Given the description of an element on the screen output the (x, y) to click on. 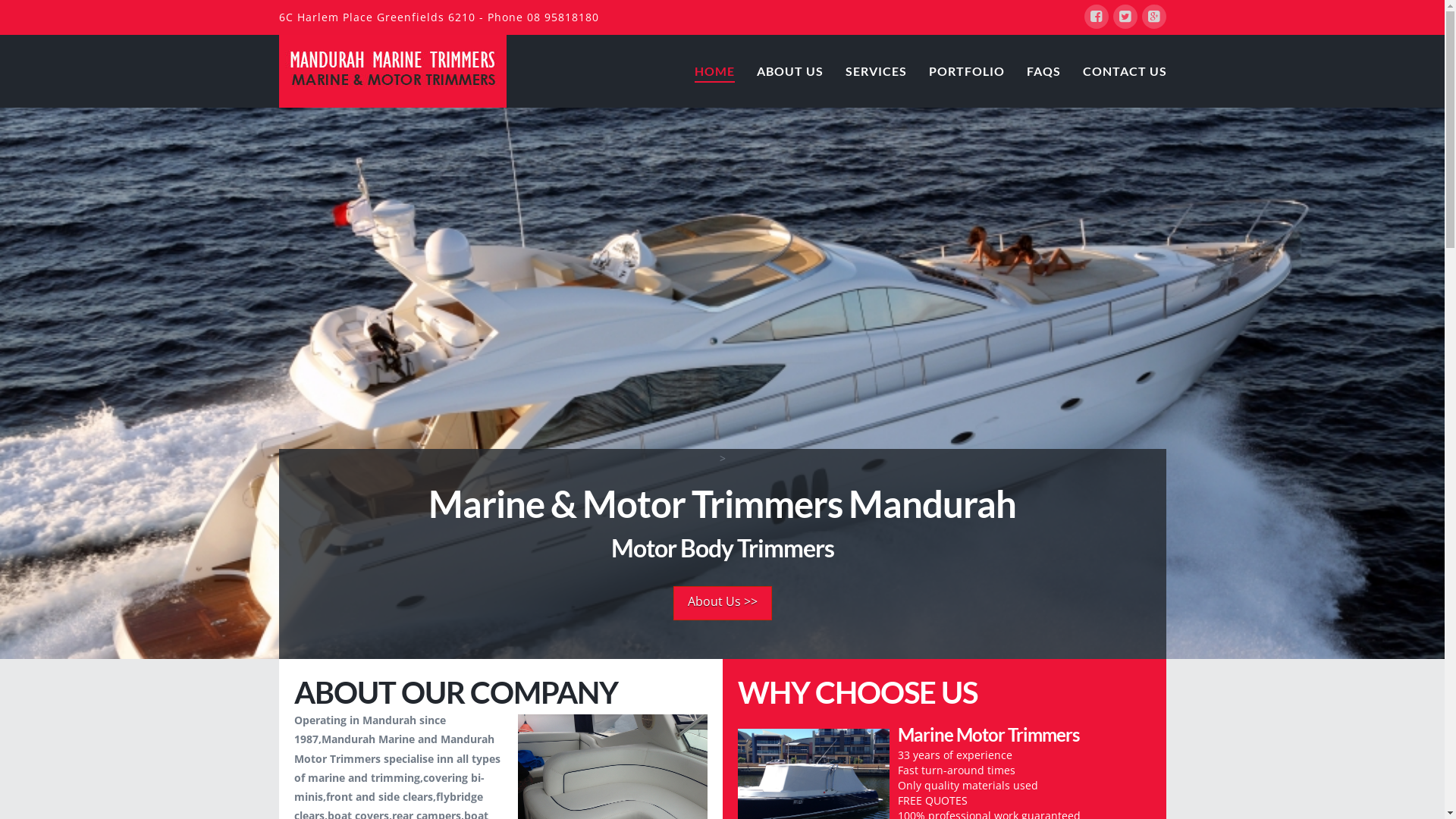
PORTFOLIO Element type: text (966, 56)
CONTACT US Element type: text (1117, 56)
Mandurah Marine Trimmers Element type: hover (392, 69)
ABOUT US Element type: text (788, 56)
HOME Element type: text (713, 56)
Twitter Element type: hover (1125, 16)
Facebook Element type: hover (1096, 16)
FAQS Element type: text (1042, 56)
Google+ Element type: hover (1154, 16)
About Us >> Element type: text (722, 603)
SERVICES Element type: text (875, 56)
